Given the description of an element on the screen output the (x, y) to click on. 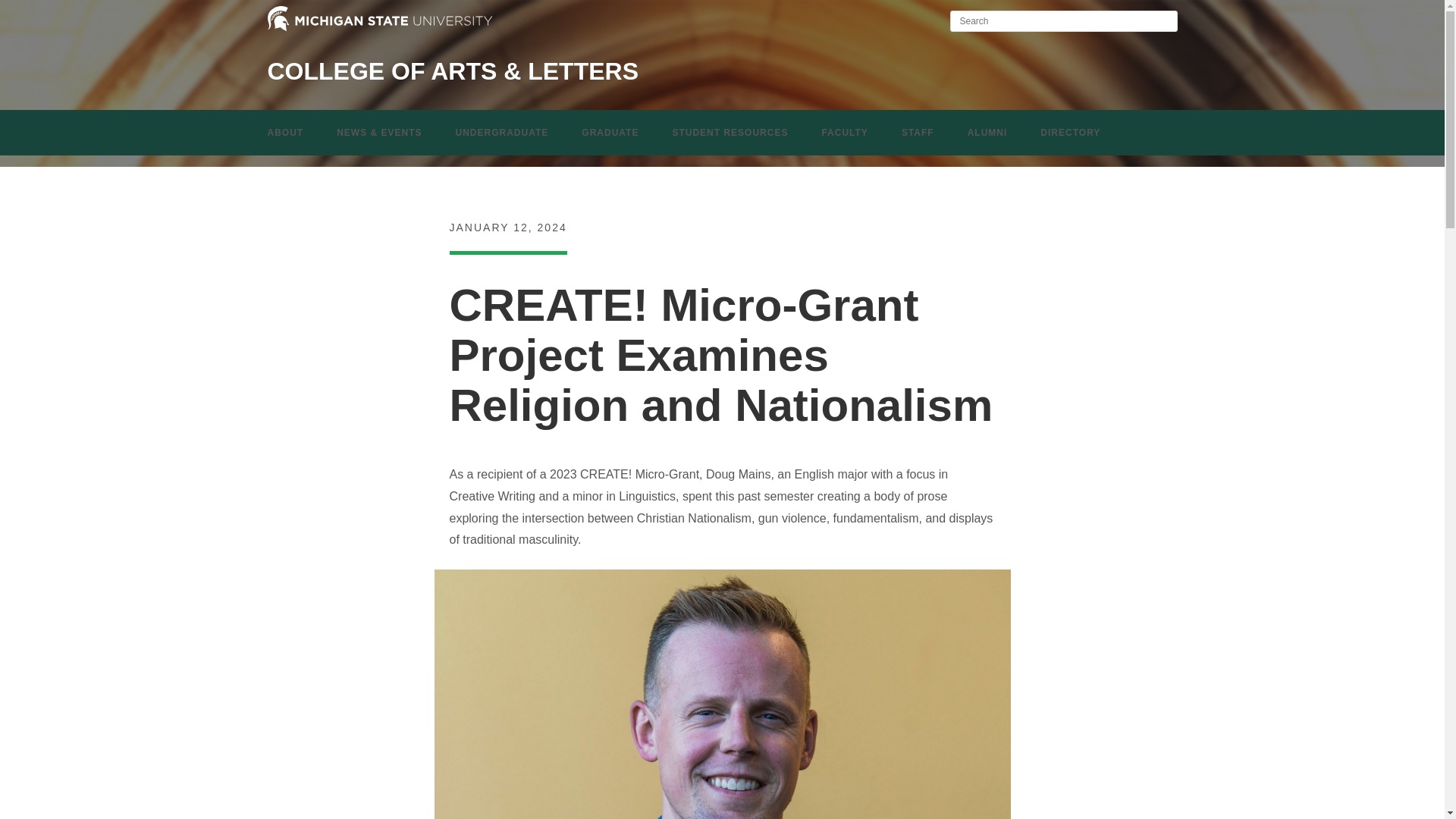
Michigan State University (379, 27)
ABOUT (285, 132)
Michigan State University (379, 18)
UNDERGRADUATE (502, 132)
